Given the description of an element on the screen output the (x, y) to click on. 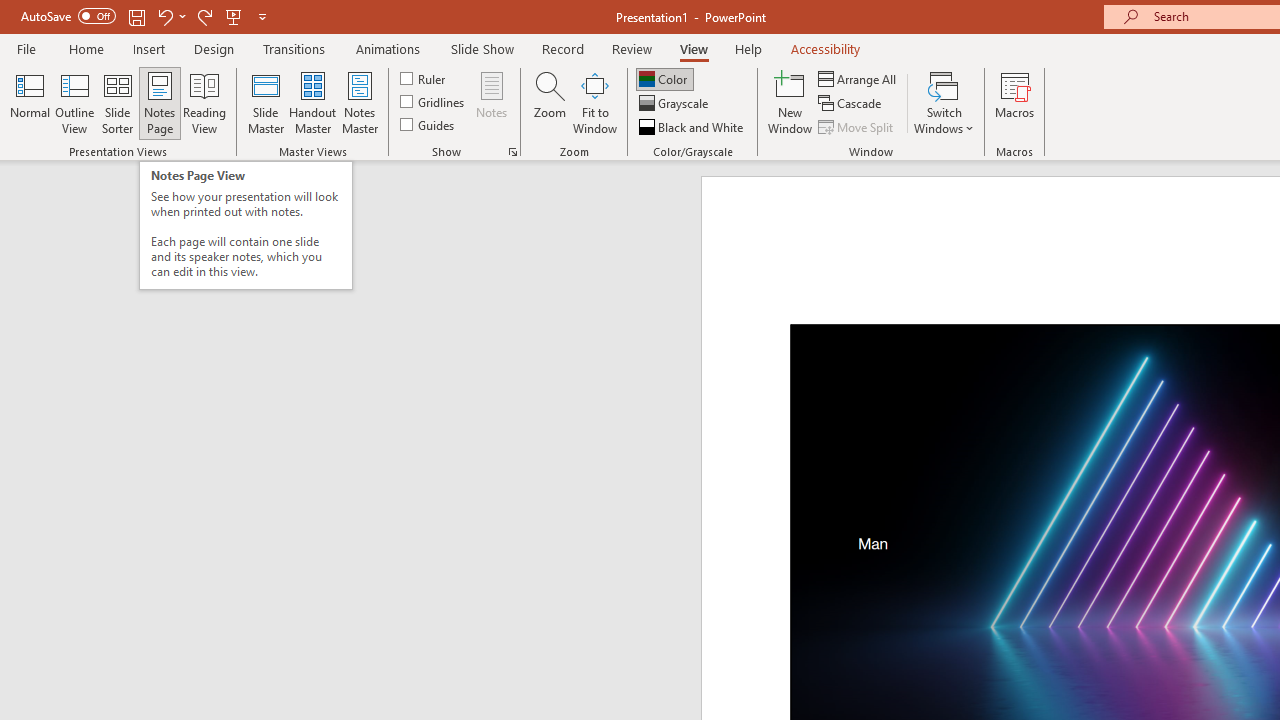
Guides (428, 124)
Zoom... (549, 102)
New Window (790, 102)
Arrange All (858, 78)
Cascade (851, 103)
Black and White (693, 126)
